Given the description of an element on the screen output the (x, y) to click on. 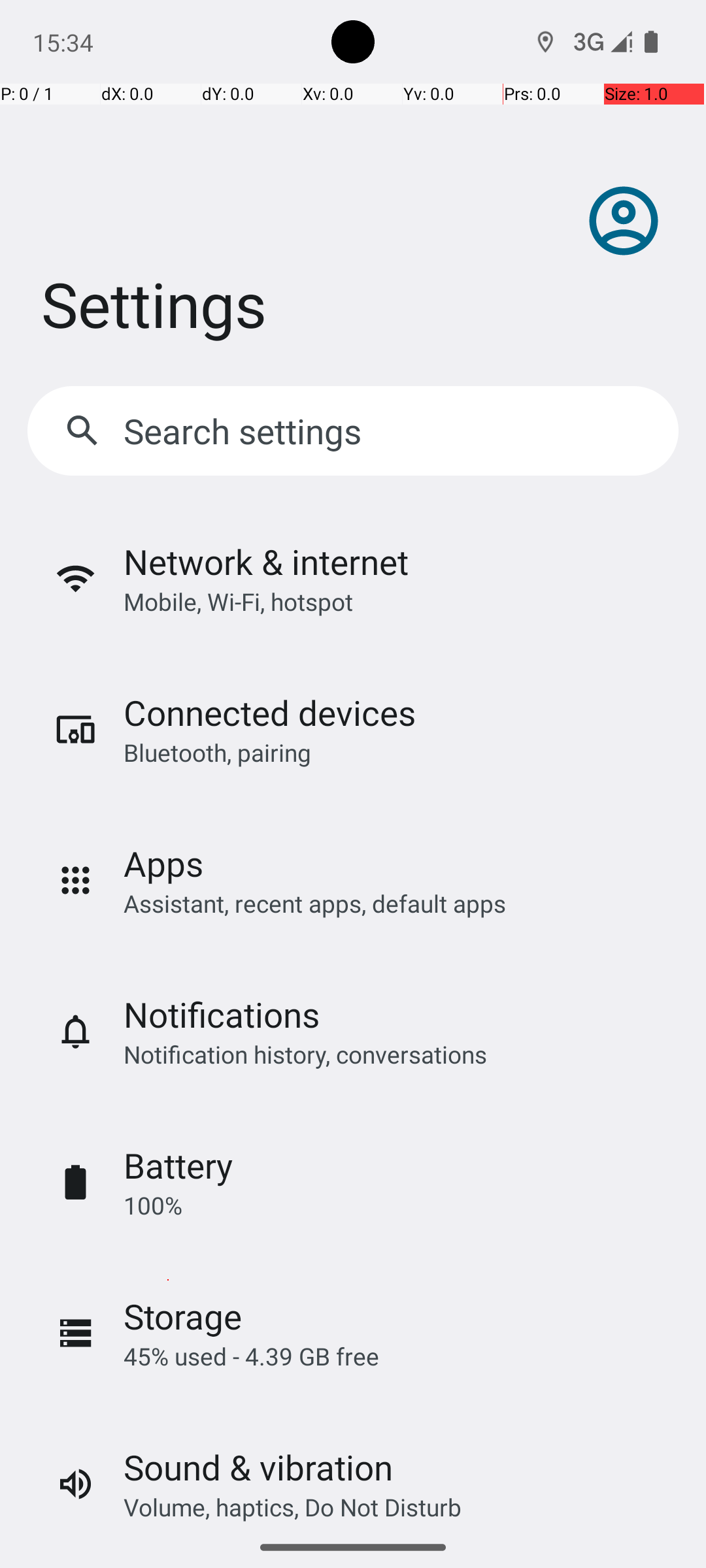
Profile picture, double tap to open Google Account Element type: android.widget.ImageView (623, 220)
Search settings Element type: android.widget.TextView (245, 430)
Network & internet Element type: android.widget.TextView (265, 561)
Mobile, Wi‑Fi, hotspot Element type: android.widget.TextView (238, 601)
Connected devices Element type: android.widget.TextView (269, 712)
Bluetooth, pairing Element type: android.widget.TextView (217, 751)
Apps Element type: android.widget.TextView (163, 863)
Assistant, recent apps, default apps Element type: android.widget.TextView (314, 902)
Notifications Element type: android.widget.TextView (221, 1014)
Notification history, conversations Element type: android.widget.TextView (305, 1053)
Battery Element type: android.widget.TextView (178, 1165)
100% Element type: android.widget.TextView (152, 1204)
Storage Element type: android.widget.TextView (182, 1315)
45% used - 4.39 GB free Element type: android.widget.TextView (251, 1355)
Sound & vibration Element type: android.widget.TextView (257, 1466)
Volume, haptics, Do Not Disturb Element type: android.widget.TextView (292, 1506)
